Given the description of an element on the screen output the (x, y) to click on. 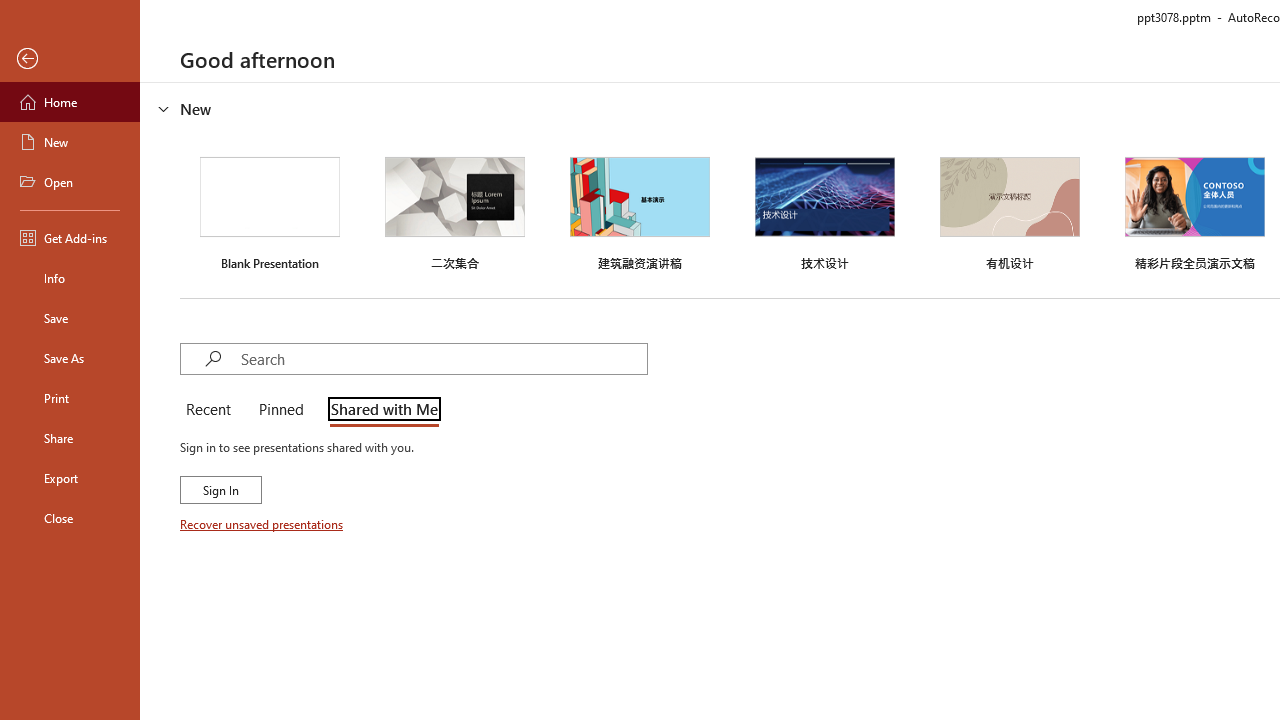
Get Add-ins (69, 237)
Recover unsaved presentations (263, 524)
Save As (69, 357)
Hide or show region (164, 108)
Back (69, 59)
Info (69, 277)
Recent (212, 410)
Blank Presentation (269, 211)
Shared with Me (379, 410)
